Given the description of an element on the screen output the (x, y) to click on. 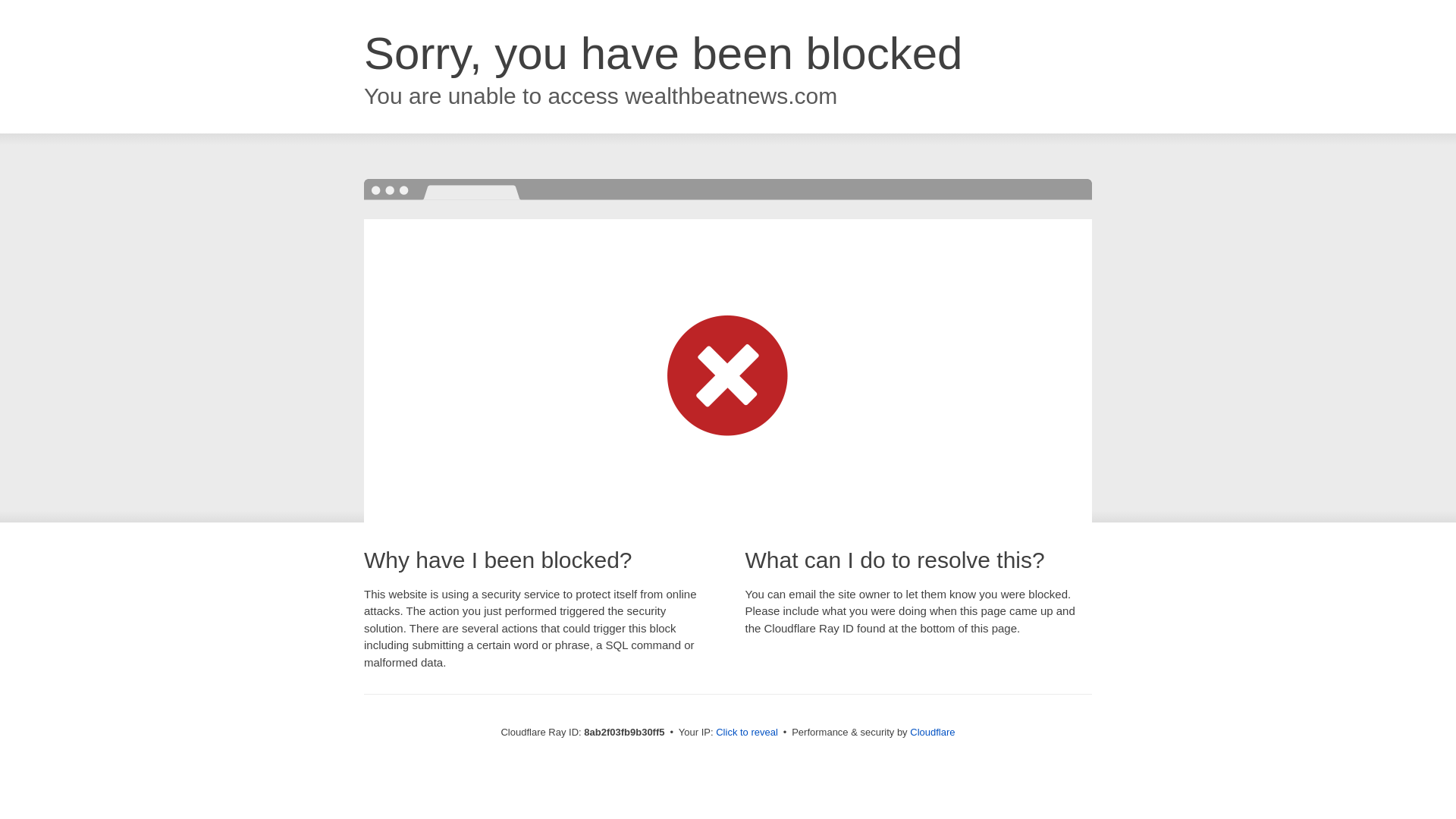
Cloudflare (932, 731)
Click to reveal (746, 732)
